Given the description of an element on the screen output the (x, y) to click on. 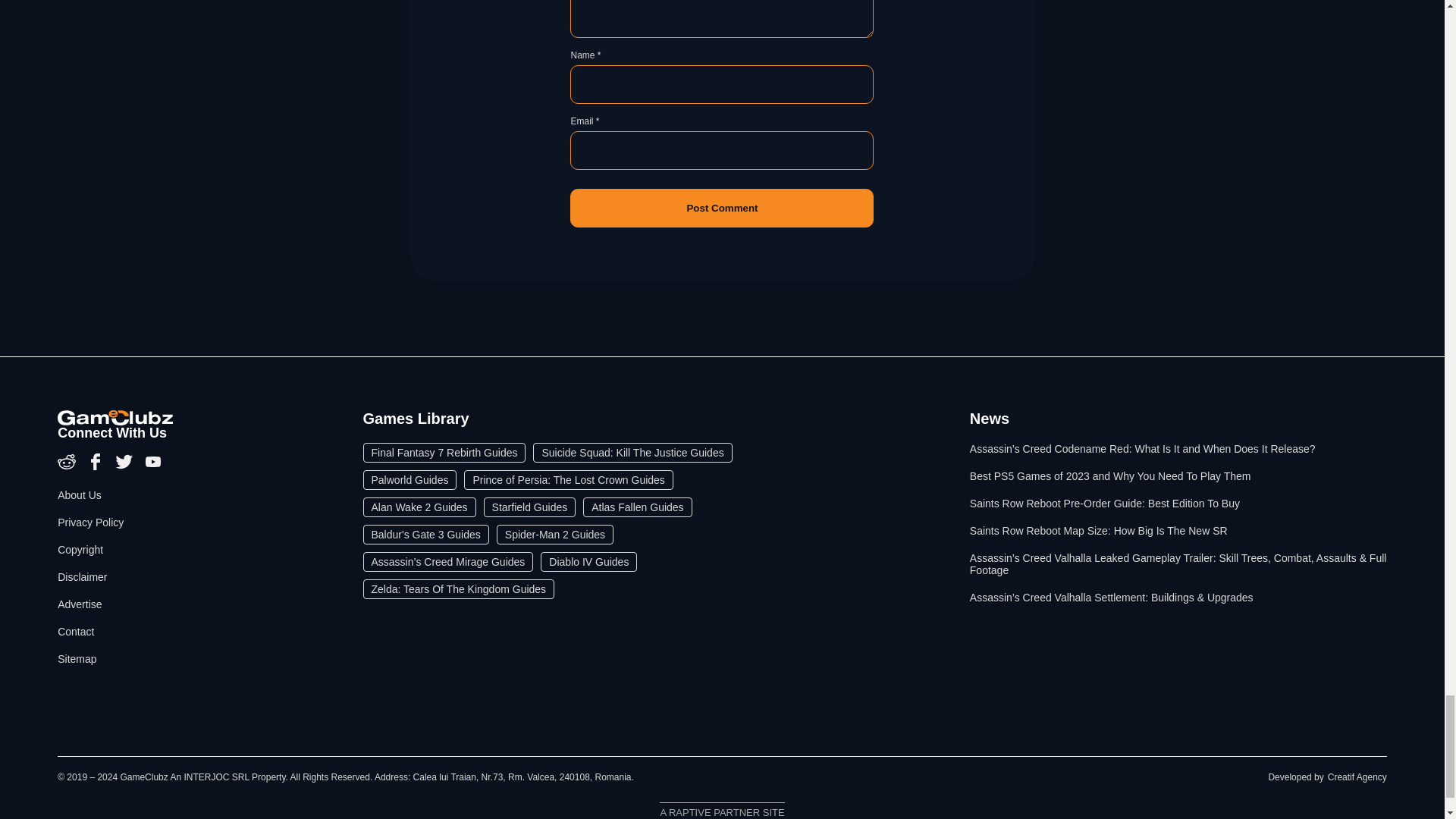
facebook (96, 467)
Post Comment (721, 208)
instagram (68, 467)
twitter (125, 467)
youtube (152, 467)
Creatif Agency web design (1357, 777)
